Given the description of an element on the screen output the (x, y) to click on. 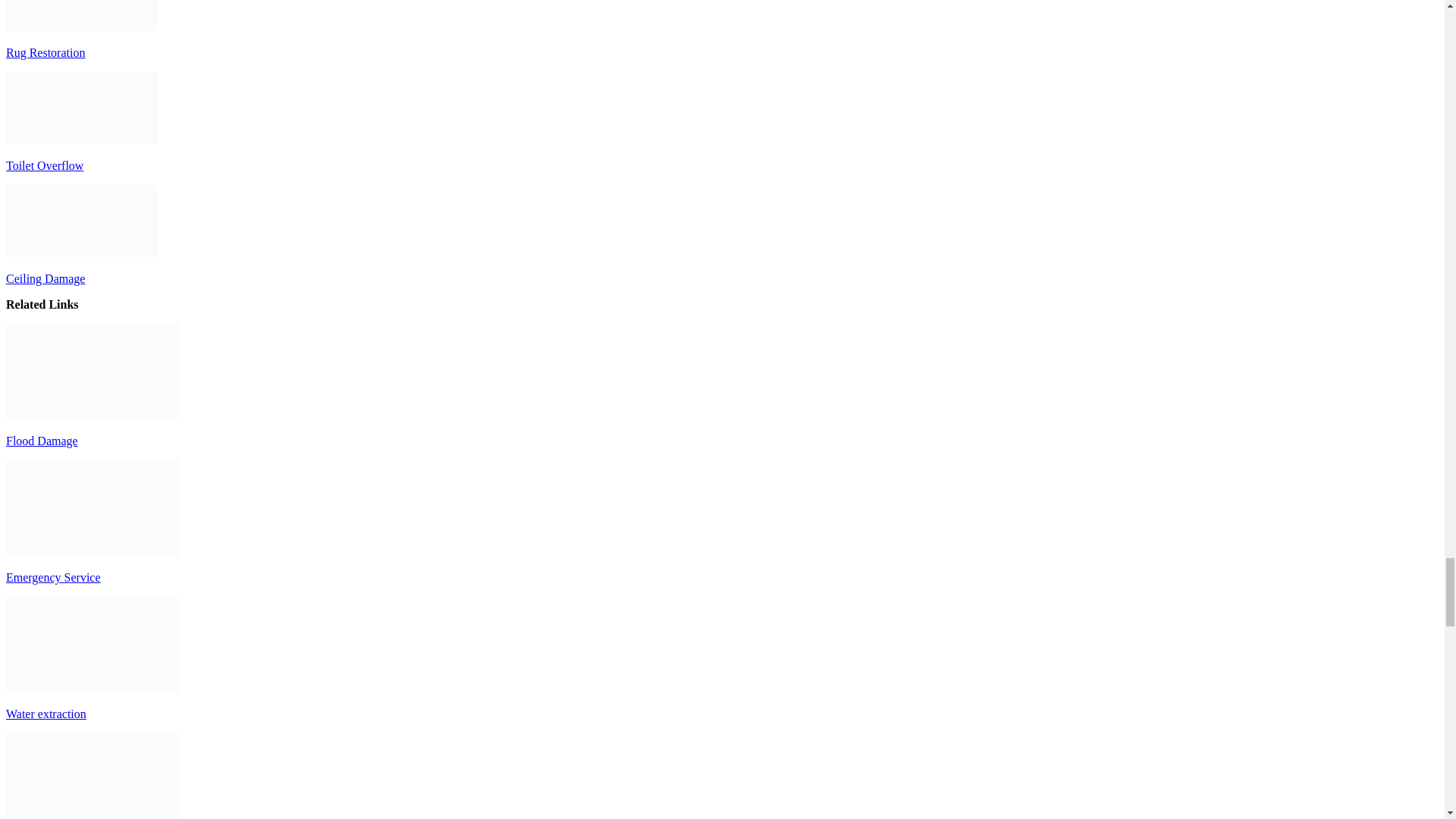
Ceiling Damage (81, 221)
Rug Restoration (81, 15)
Emergency Service (52, 576)
Toilet Overflow (81, 108)
Emergency Service (92, 508)
Rug Restoration (92, 776)
Water extraction (92, 644)
Flood Damage (92, 371)
